Given the description of an element on the screen output the (x, y) to click on. 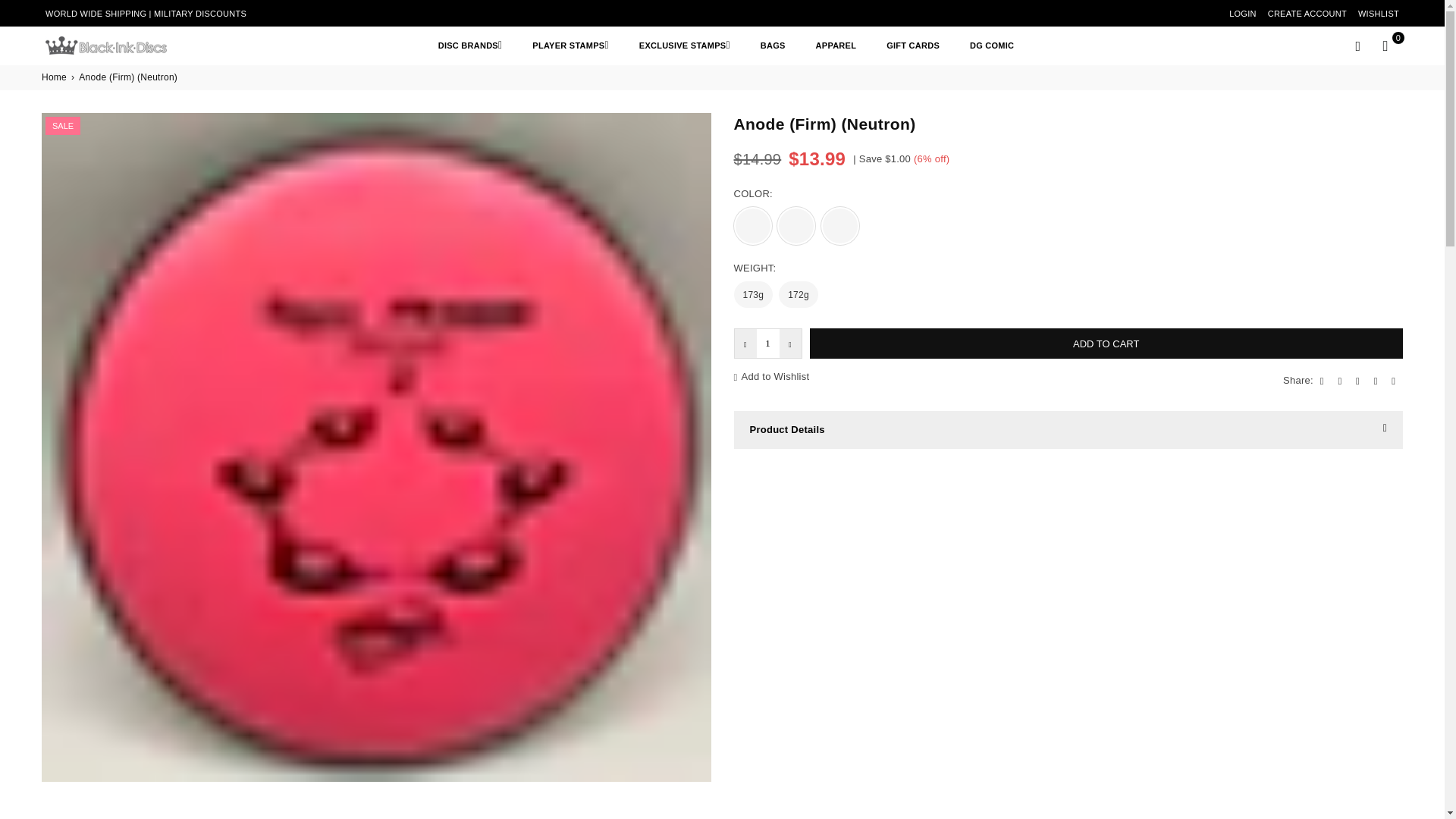
Cart (1385, 45)
MILITARY DISCOUNTS (200, 13)
CREATE ACCOUNT (1307, 13)
PLAYER STAMPS (570, 45)
Search (1357, 45)
LOGIN (1242, 13)
BLACK INK DISCS (117, 45)
Back to the home page (55, 77)
Quantity (767, 343)
DISC BRANDS (469, 45)
